Given the description of an element on the screen output the (x, y) to click on. 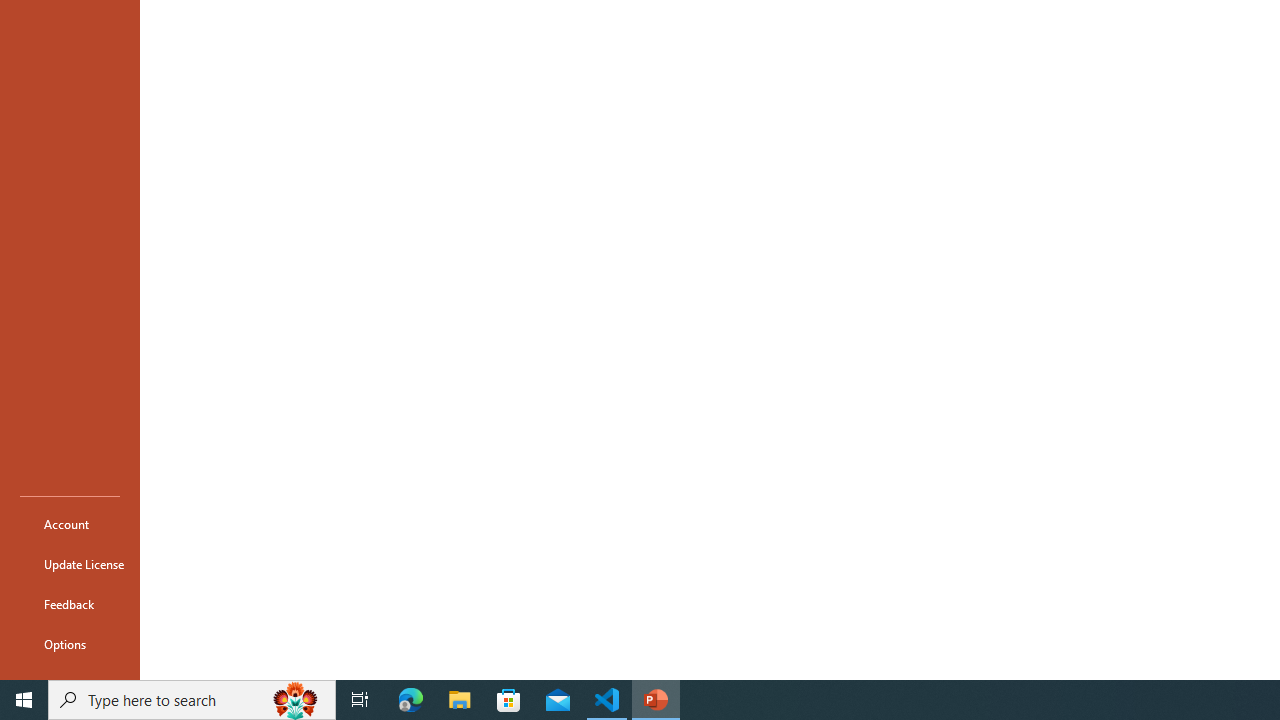
Update License (69, 563)
Options (69, 643)
Account (69, 523)
Feedback (69, 603)
